Given the description of an element on the screen output the (x, y) to click on. 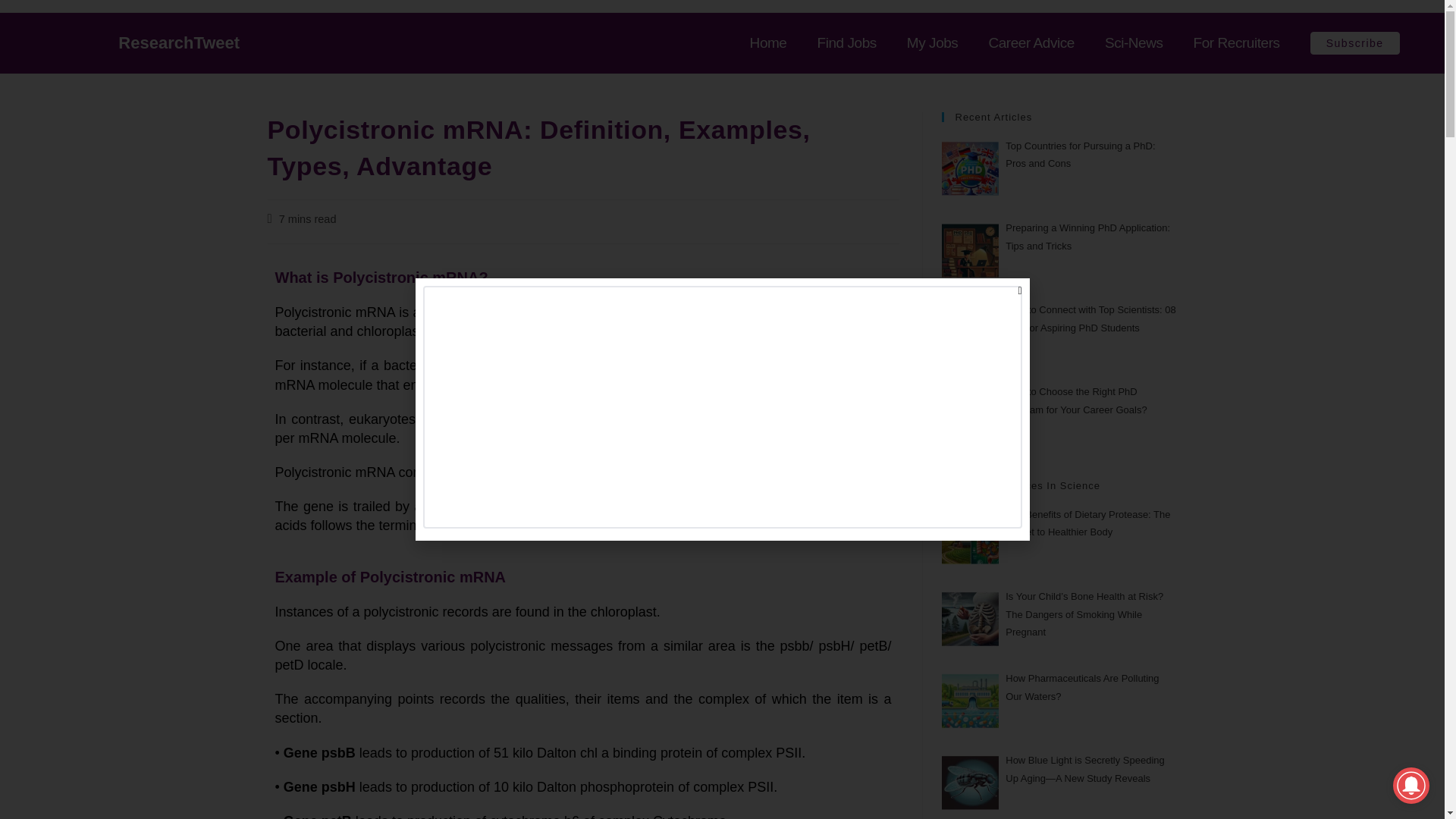
Home (768, 43)
My Jobs (932, 43)
Subscribe (1354, 42)
Find Jobs (846, 43)
ResearchTweet (178, 42)
Sci-News (1134, 43)
Career Advice (1031, 43)
For Recruiters (1236, 43)
